Given the description of an element on the screen output the (x, y) to click on. 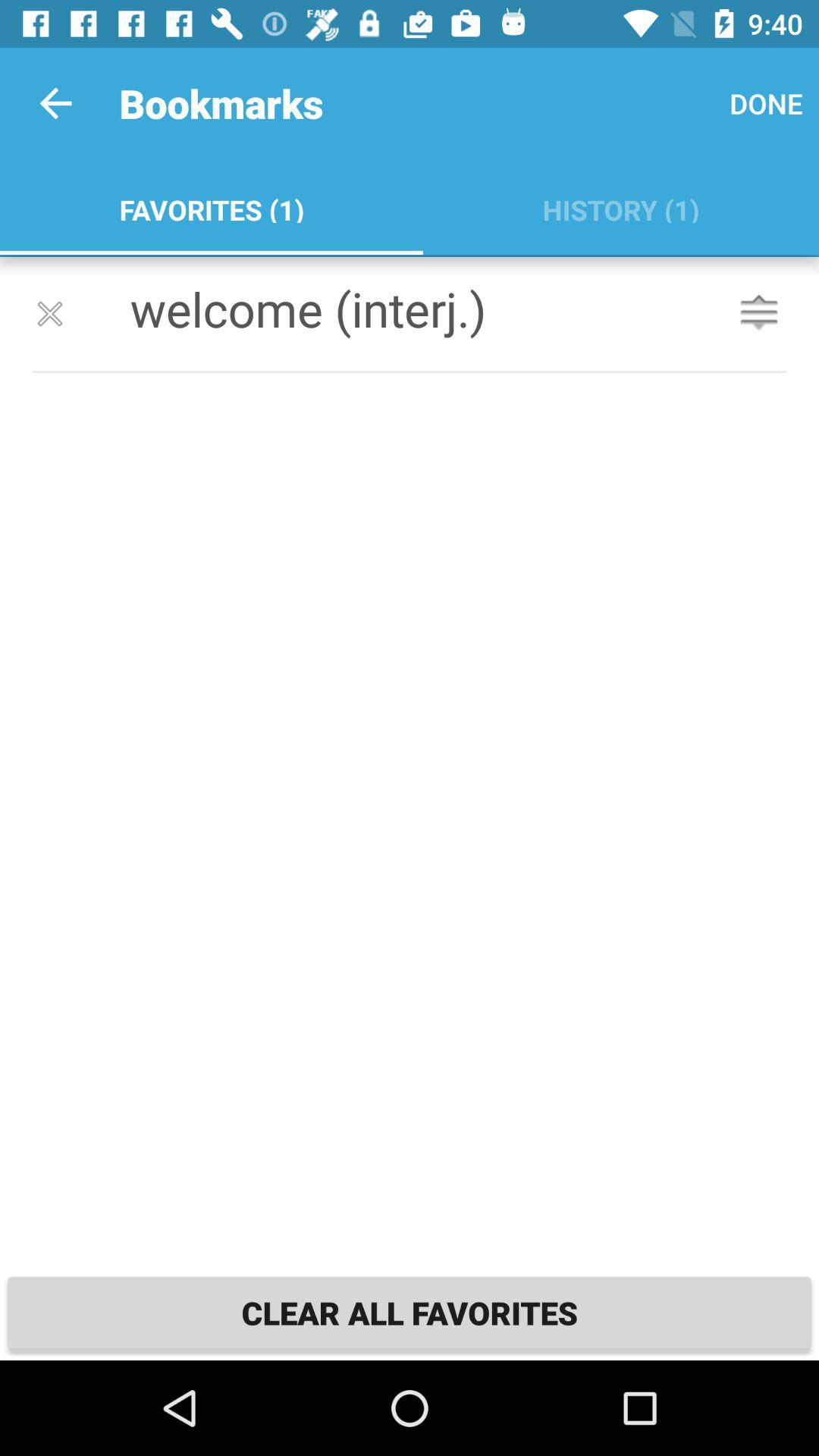
jump to the history (1) (621, 206)
